Given the description of an element on the screen output the (x, y) to click on. 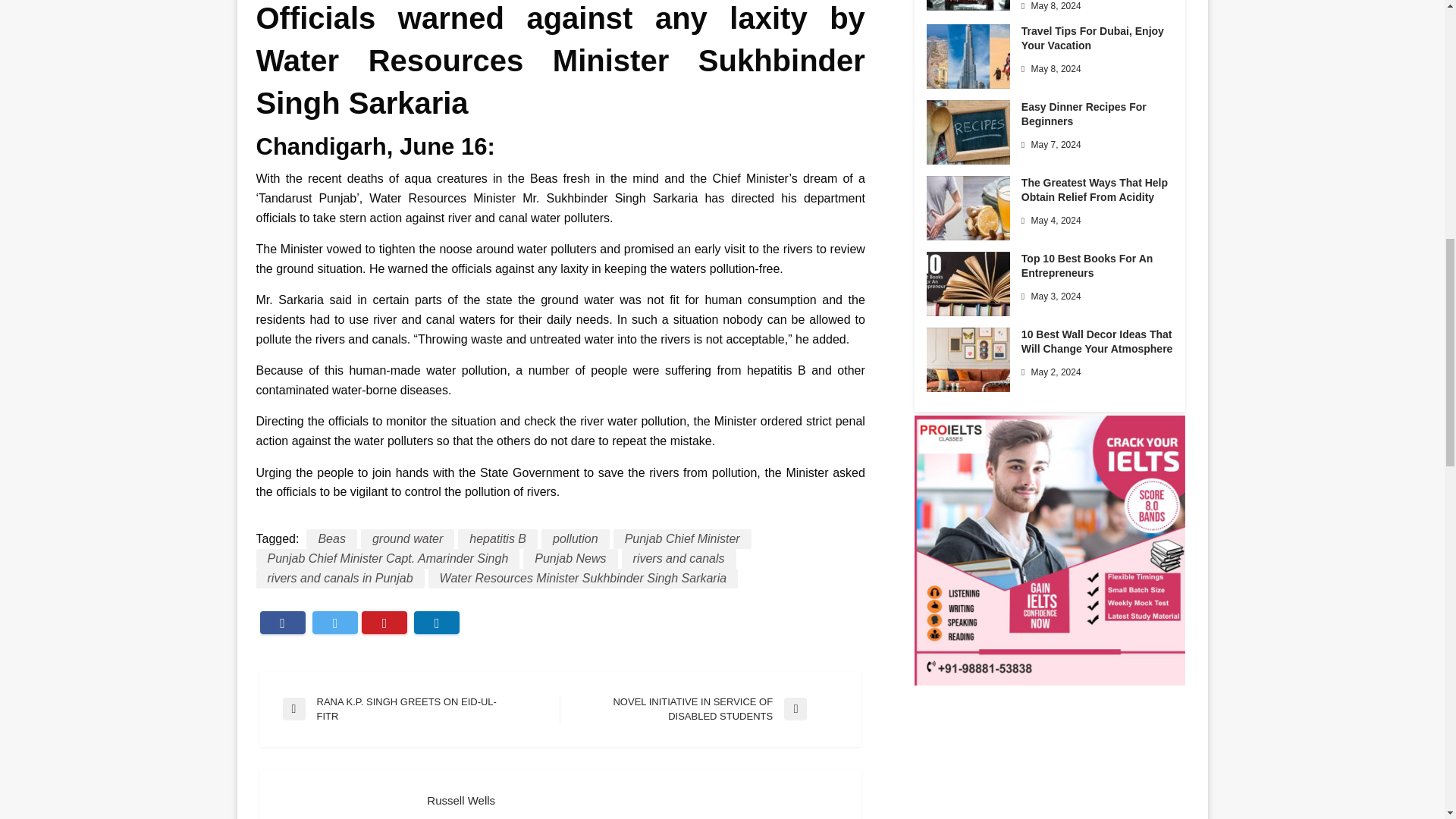
Russell Wells (632, 800)
